Given the description of an element on the screen output the (x, y) to click on. 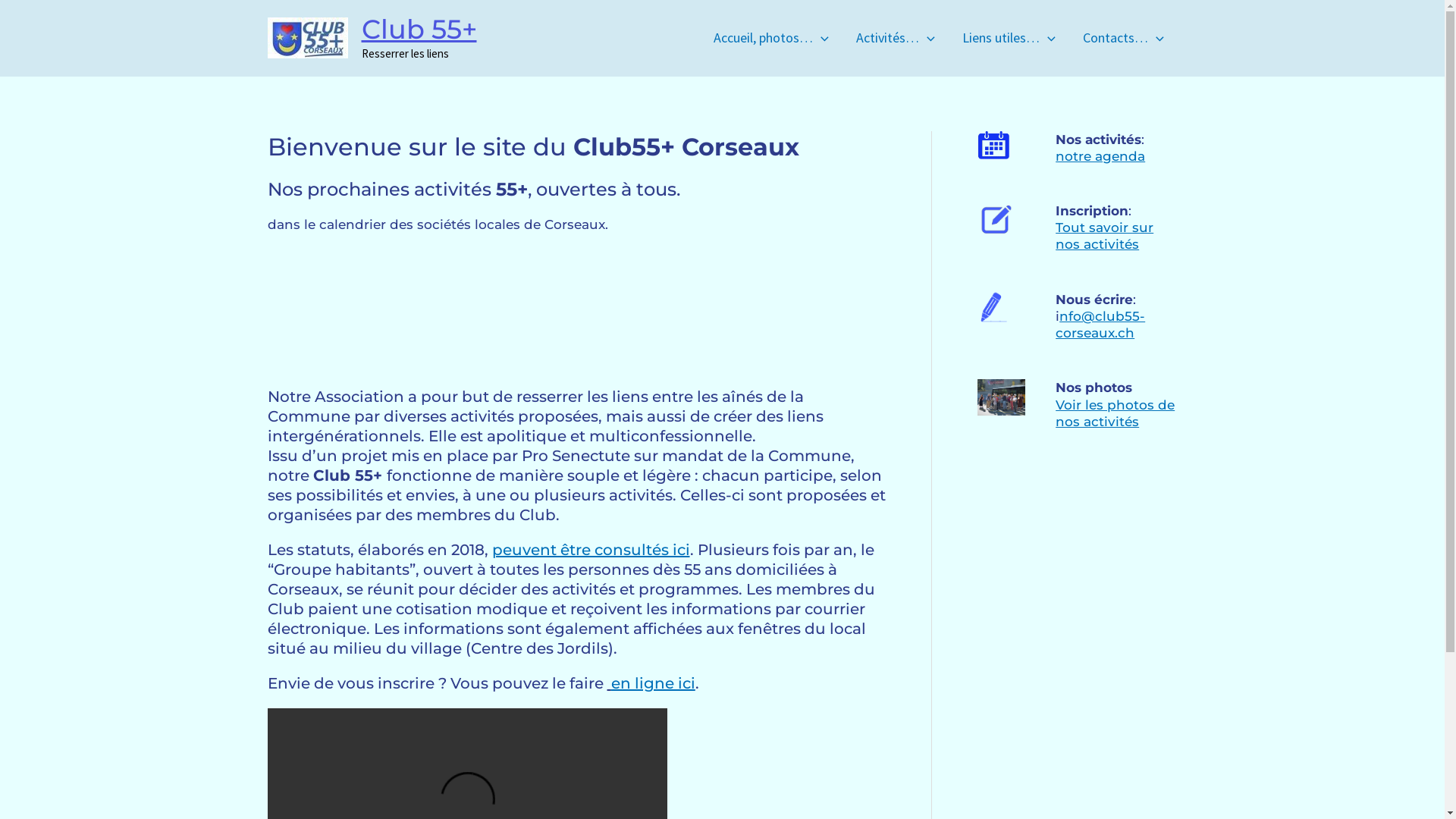
Tout savoir sur Element type: text (1104, 227)
notre agenda Element type: text (1100, 155)
en ligne ici Element type: text (653, 683)
nfo@club55-corseaux.ch Element type: text (1100, 324)
Club 55+ Element type: text (418, 28)
